Given the description of an element on the screen output the (x, y) to click on. 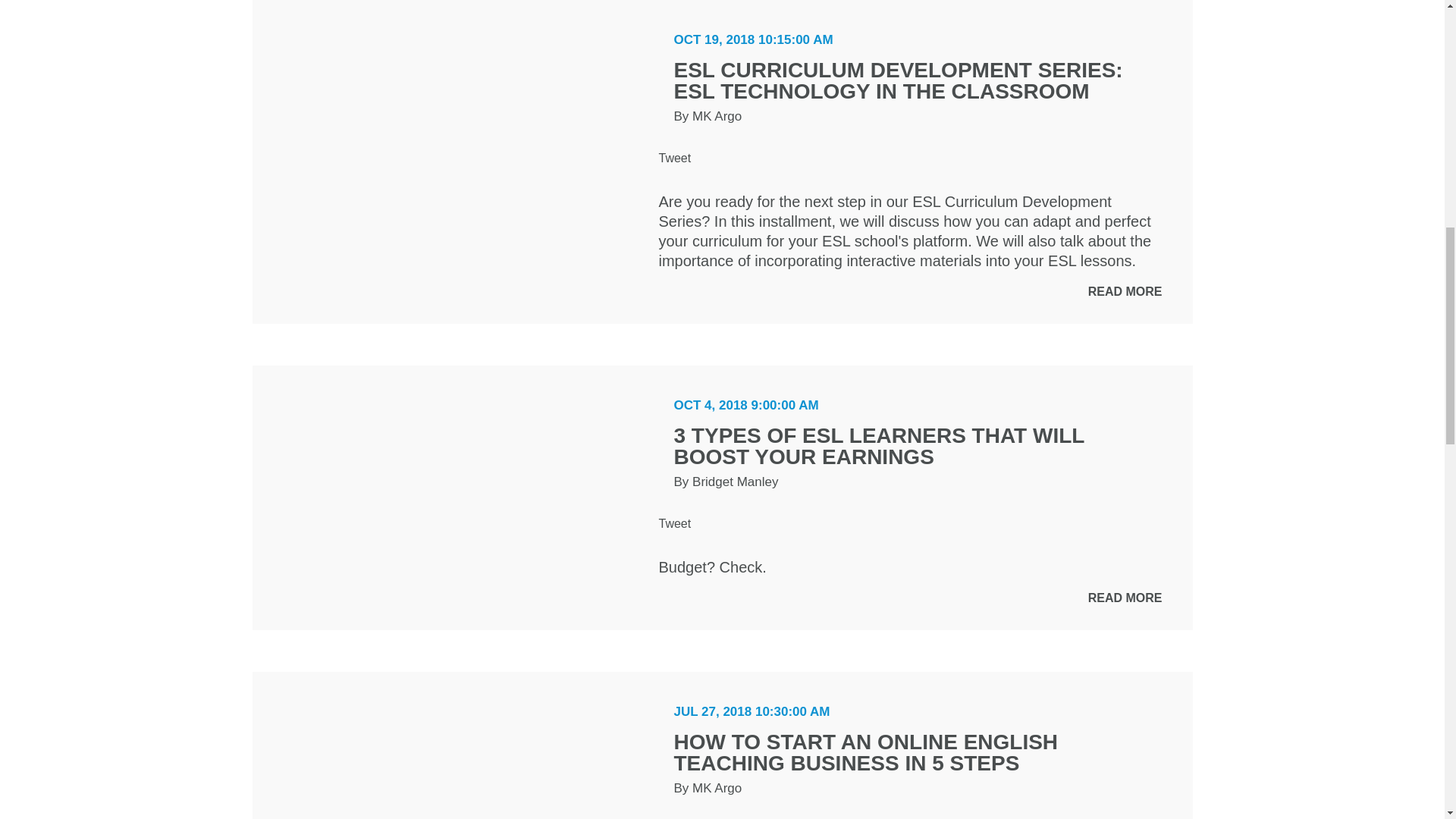
READ MORE (1124, 597)
Bridget Manley (735, 481)
MK Argo (717, 115)
MK Argo (717, 788)
READ MORE (1124, 291)
3 TYPES OF ESL LEARNERS THAT WILL BOOST YOUR EARNINGS (877, 446)
HOW TO START AN ONLINE ENGLISH TEACHING BUSINESS IN 5 STEPS (865, 752)
Tweet (674, 157)
Tweet (674, 522)
